Given the description of an element on the screen output the (x, y) to click on. 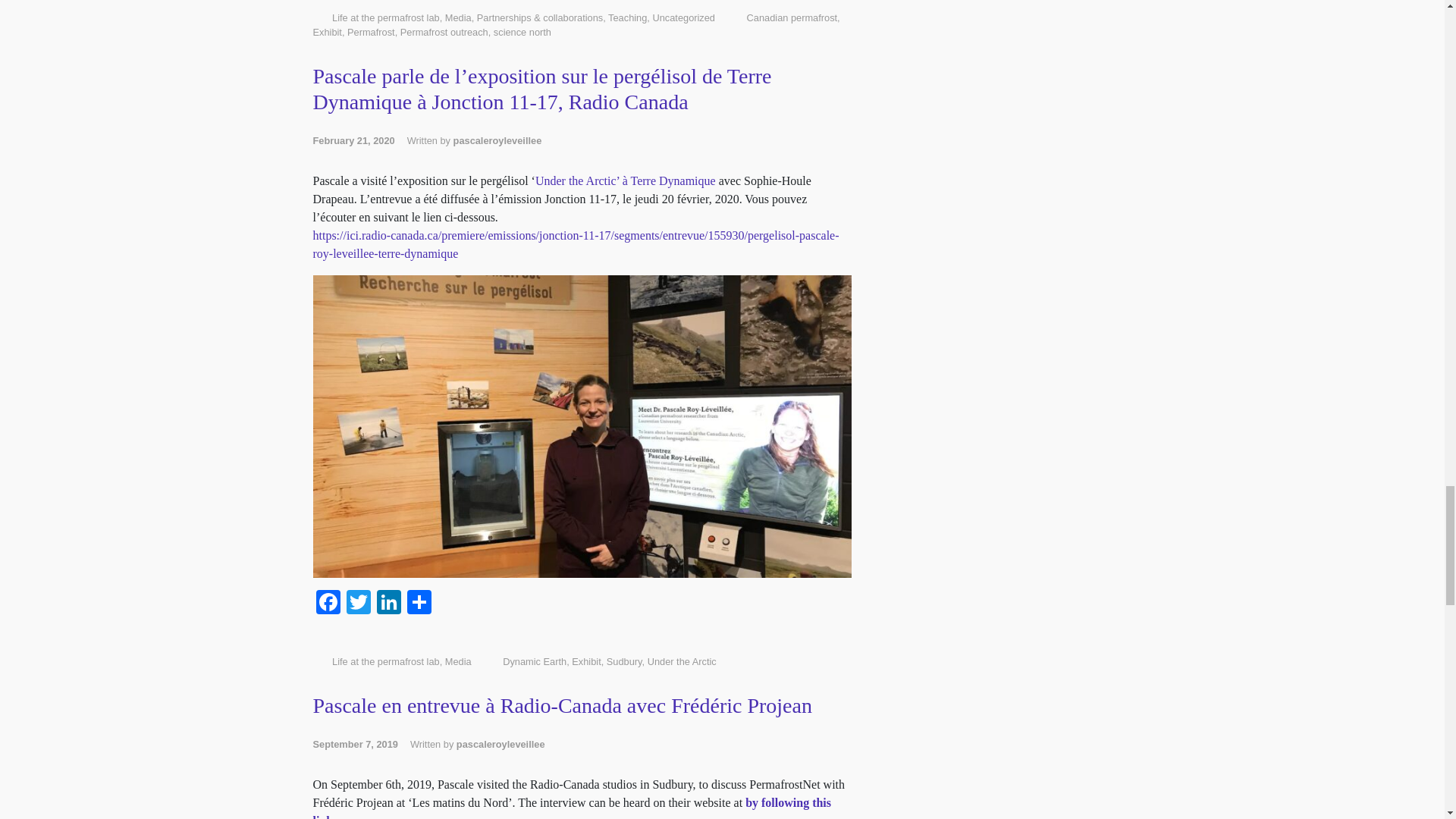
LinkedIn (387, 603)
View all posts by pascaleroyleveillee (500, 744)
Twitter (357, 603)
View all posts by pascaleroyleveillee (496, 140)
Facebook (327, 603)
